Given the description of an element on the screen output the (x, y) to click on. 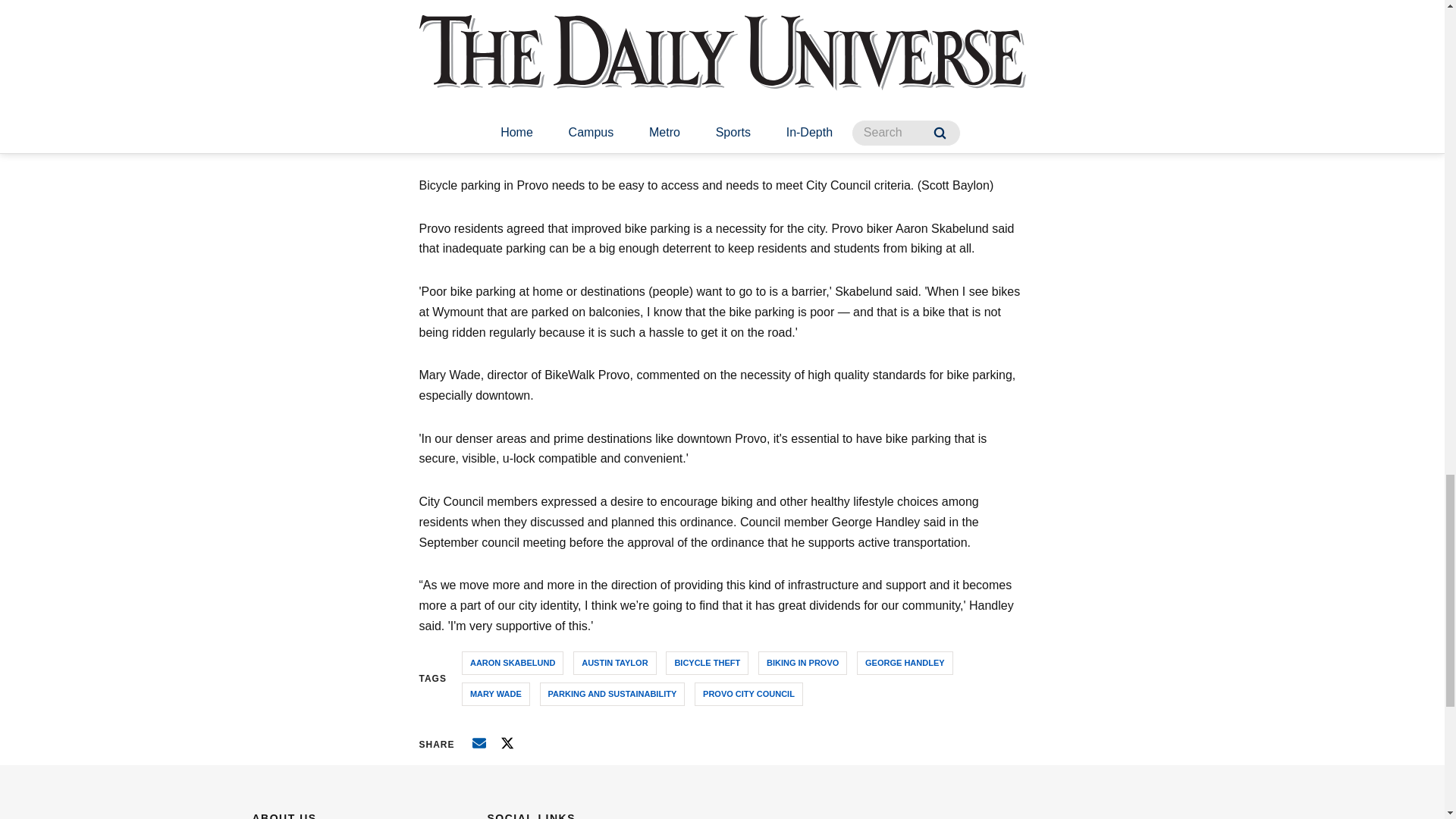
PARKING AND SUSTAINABILITY (612, 693)
Email (478, 743)
GEORGE HANDLEY (905, 662)
MARY WADE (495, 693)
AUSTIN TAYLOR (614, 662)
BIKING IN PROVO (802, 662)
BICYCLE THEFT (706, 662)
PROVO CITY COUNCIL (748, 693)
AARON SKABELUND (512, 662)
